Given the description of an element on the screen output the (x, y) to click on. 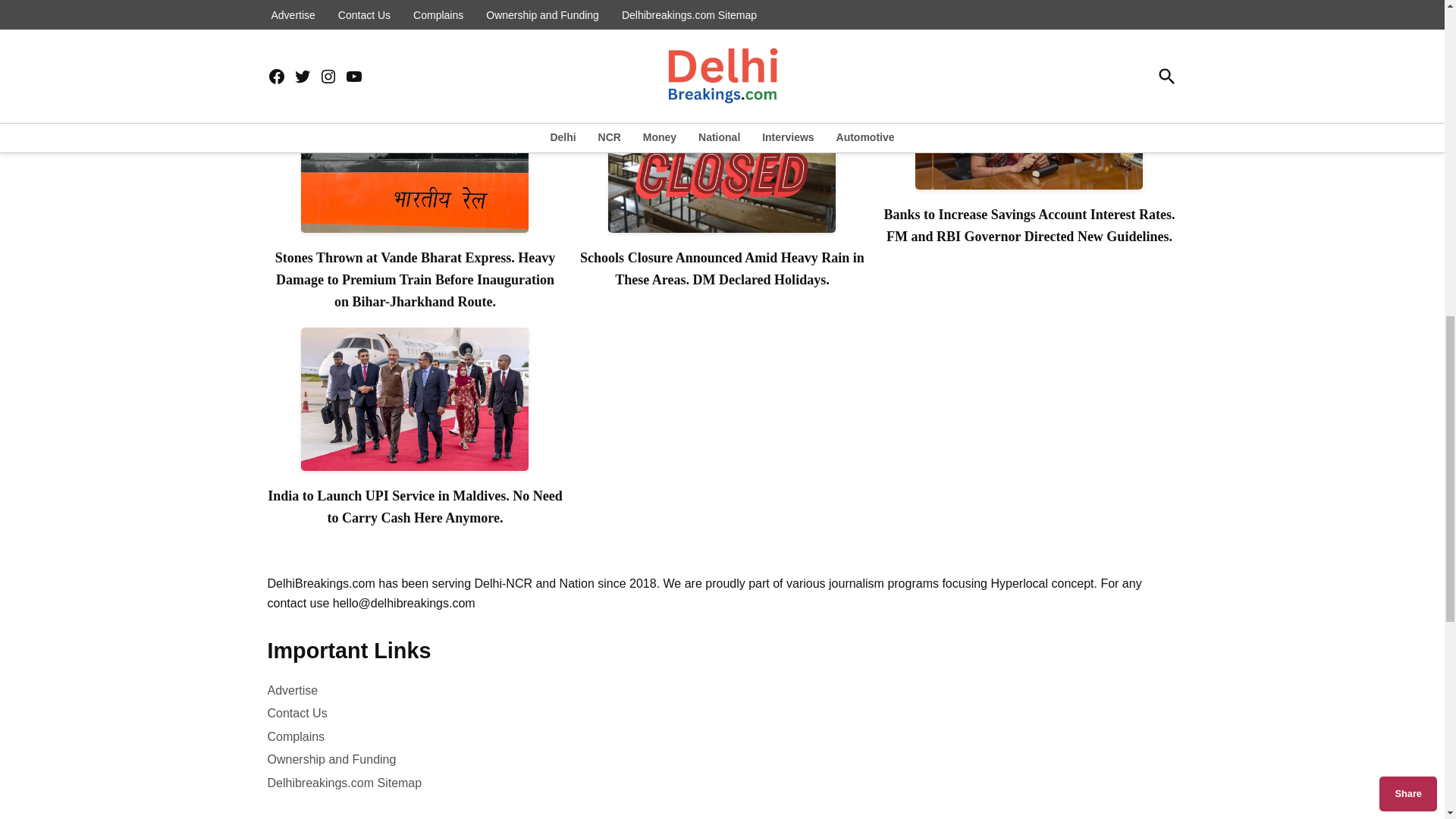
Contact Us (296, 713)
Complains (295, 736)
Delhibreakings.com Sitemap (344, 782)
Advertise (291, 689)
